Given the description of an element on the screen output the (x, y) to click on. 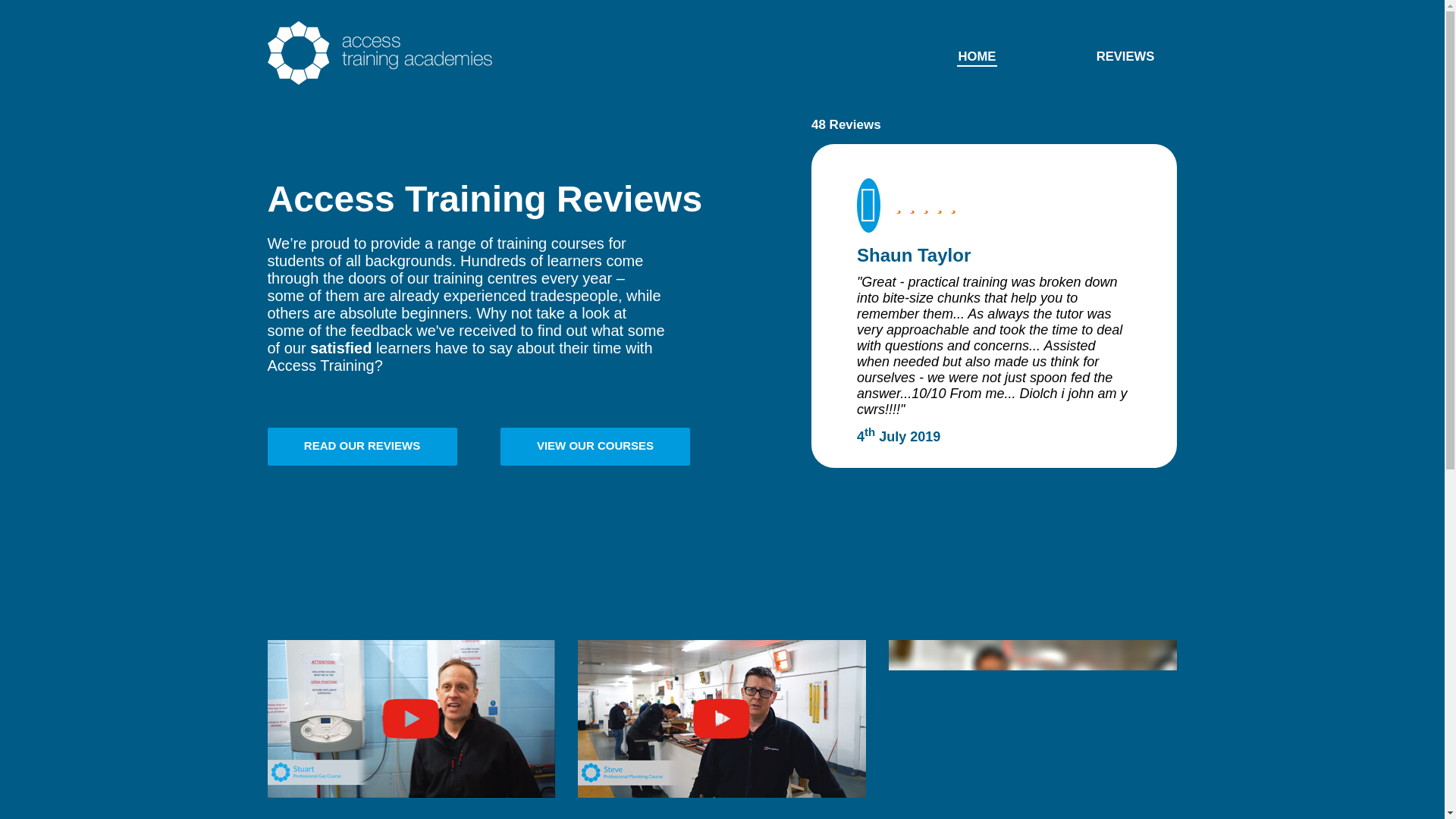
Plumbing Review - Steve (722, 718)
Access Training Reviews (379, 53)
Gas Review - Stu (410, 718)
VIEW OUR COURSES (595, 446)
Pluming Review - Carlos (1032, 718)
READ OUR REVIEWS (361, 446)
Home (976, 56)
Reviews (1125, 56)
READ OUR REVIEWS (361, 446)
Access Training Reviews (379, 81)
HOME (976, 56)
REVIEWS (1125, 56)
